Given the description of an element on the screen output the (x, y) to click on. 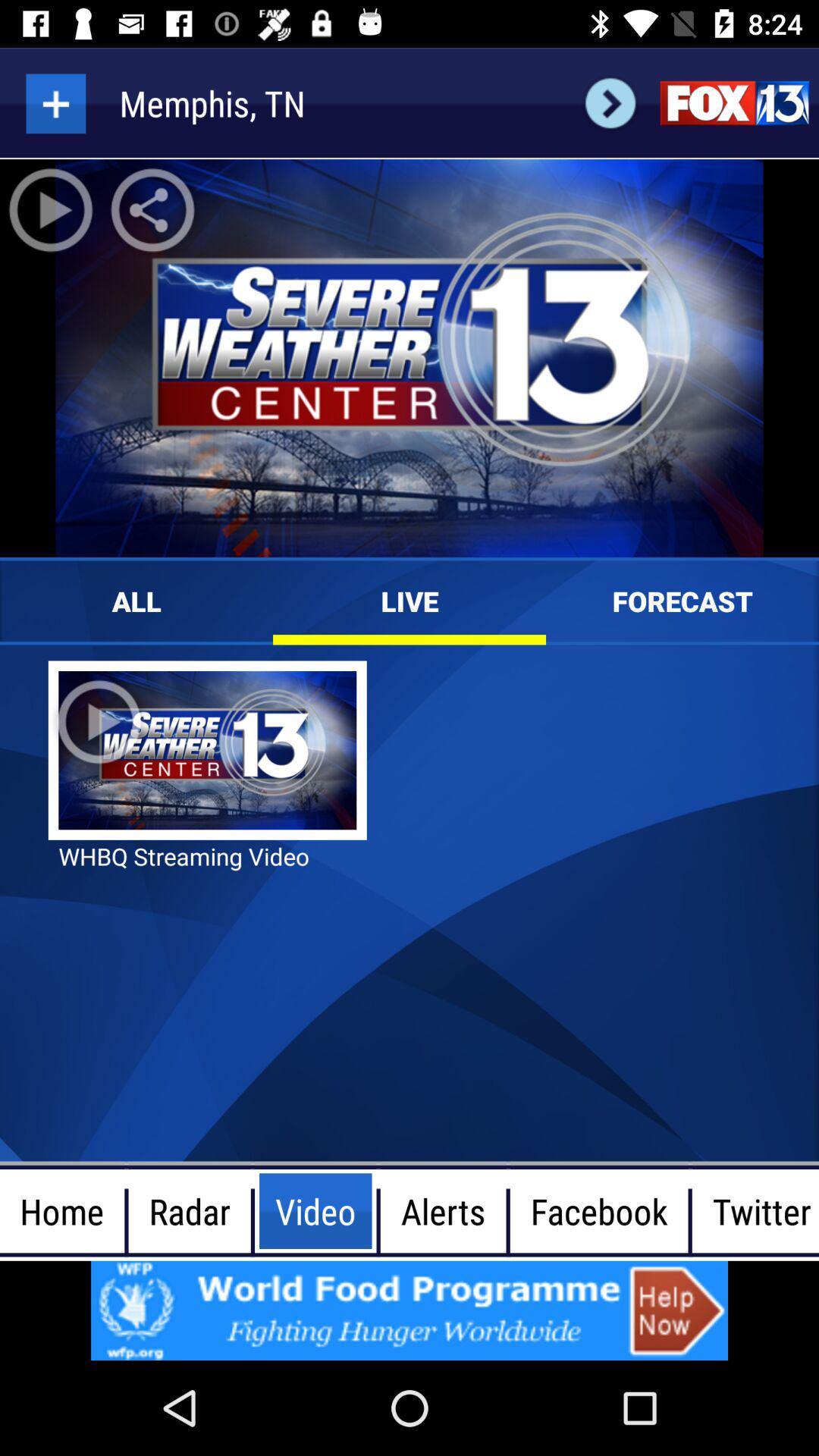
view fox 13 site (734, 103)
